Given the description of an element on the screen output the (x, y) to click on. 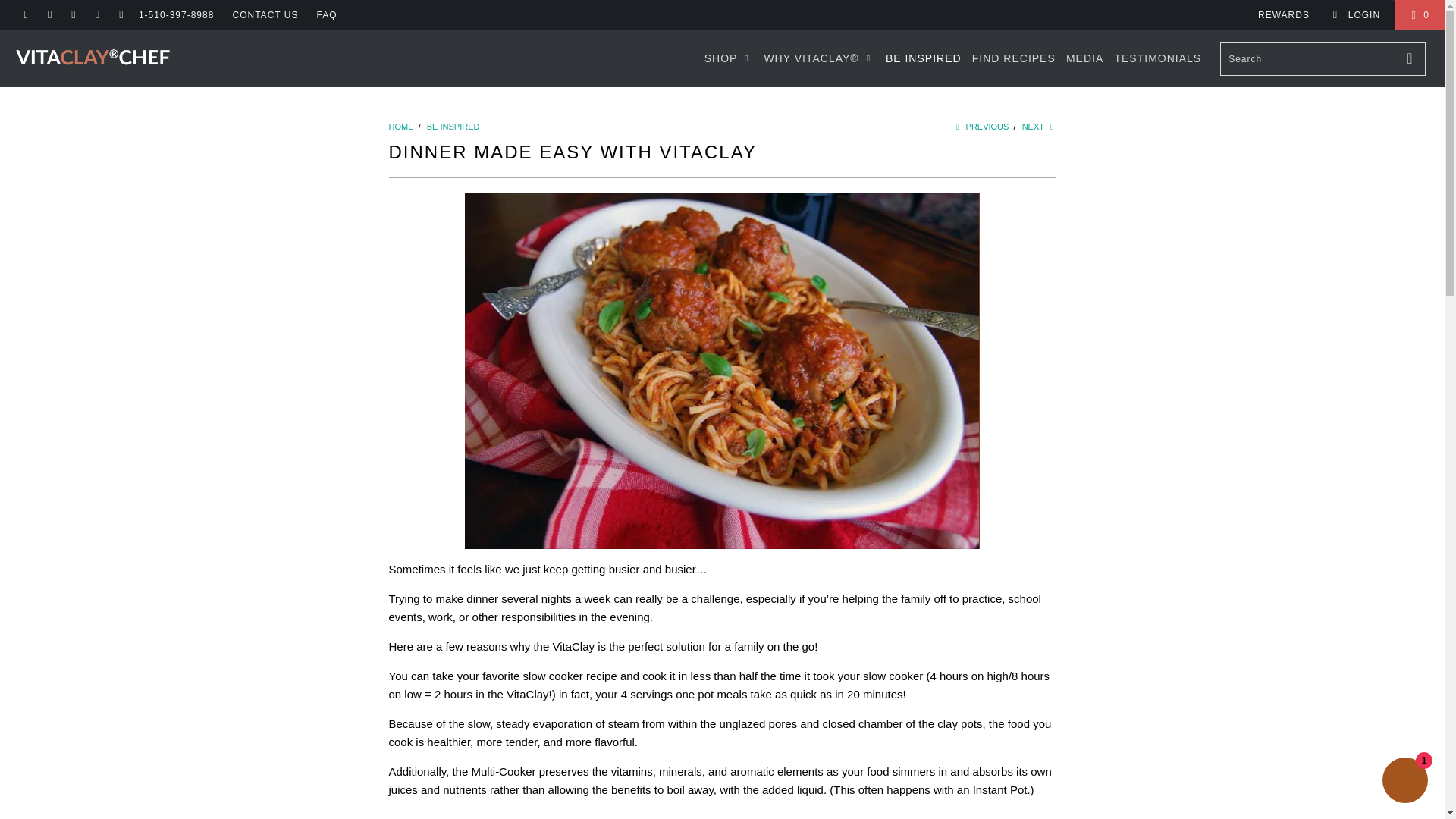
Be Inspired (453, 126)
My Account  (1355, 15)
